Given the description of an element on the screen output the (x, y) to click on. 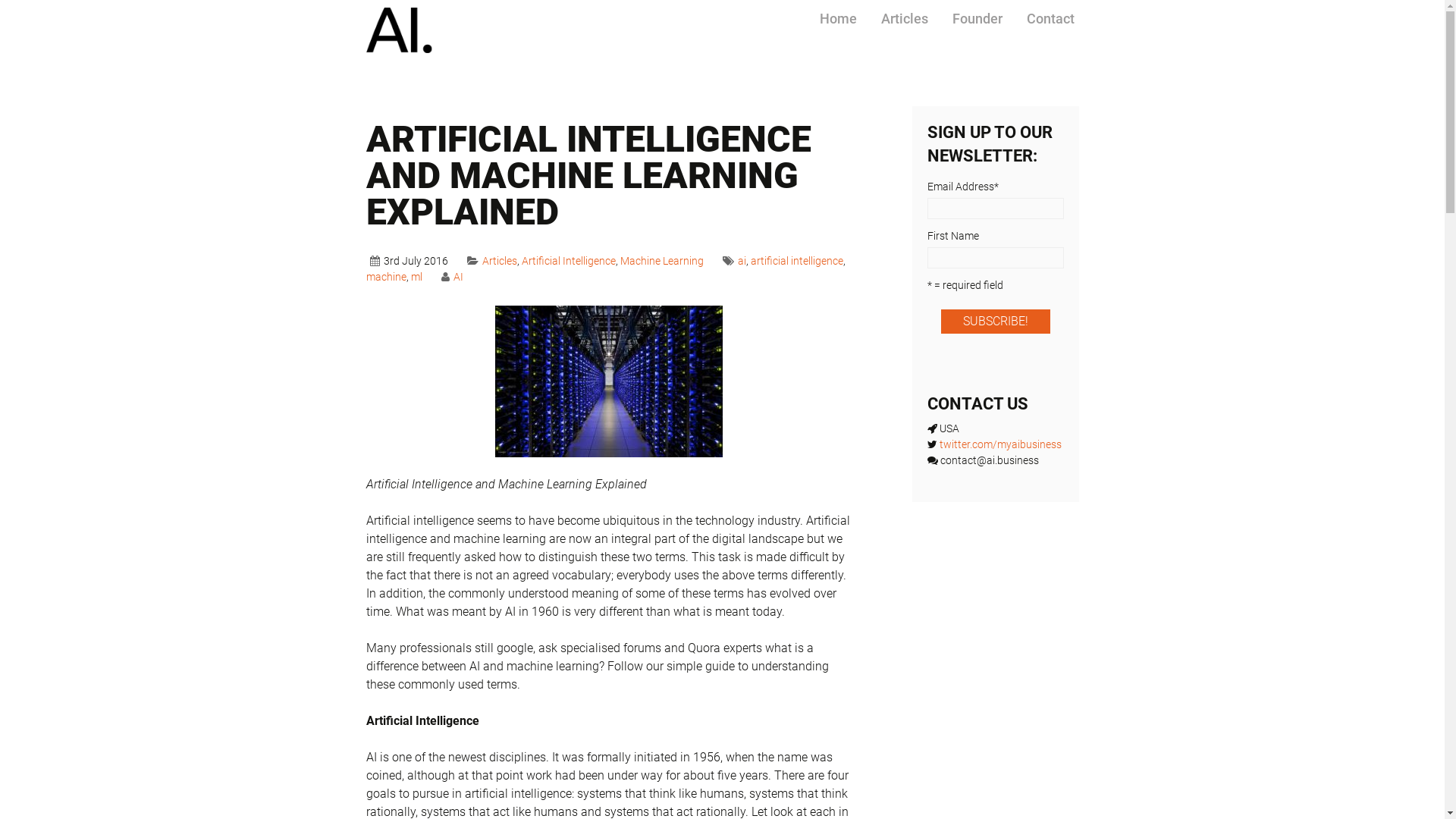
art Element type: text (833, 522)
Skip to content Element type: text (847, 7)
robots Element type: text (675, 580)
machine Element type: text (385, 276)
Contact Element type: text (1050, 18)
site Element type: text (777, 580)
machine Element type: text (993, 551)
cognitive computing Element type: text (892, 537)
ml Element type: text (953, 565)
Articles Element type: text (904, 18)
Site-Layout Modeling Element type: text (846, 580)
education Element type: text (805, 551)
smart building Element type: text (943, 580)
war Element type: text (1044, 580)
ml Element type: text (416, 276)
ai Element type: text (710, 522)
livestock Element type: text (902, 551)
animal growth Element type: text (755, 522)
crm Element type: text (637, 551)
agriculture Element type: text (628, 522)
Founder Element type: text (977, 18)
augmented reality Element type: text (841, 529)
twitter.com/myaibusiness Element type: text (999, 444)
agritech Element type: text (680, 522)
construction Element type: text (983, 537)
military Element type: text (820, 565)
Articles Element type: text (499, 260)
artificial Element type: text (888, 522)
defense Element type: text (717, 551)
security Element type: text (745, 580)
weeds identification Element type: text (896, 594)
LRASM Element type: text (948, 551)
missile technology Element type: text (893, 565)
drones Element type: text (758, 551)
big data Element type: text (657, 537)
Home Element type: text (837, 18)
predictive analytics Element type: text (1012, 565)
ai Element type: text (741, 260)
AI Element type: text (458, 276)
Artificial Intelligence Element type: text (568, 260)
Subscribe! Element type: text (721, 802)
work Element type: text (965, 594)
machine learning Element type: text (832, 558)
twitter.com/myaibusiness Element type: text (458, 580)
bim Element type: text (692, 537)
machine lerarning Element type: text (694, 565)
start ups Element type: text (1008, 580)
Machine Learning Element type: text (661, 260)
Subscribe! Element type: text (994, 321)
farming Element type: text (855, 551)
artificial intelligence Element type: text (966, 522)
sales Element type: text (708, 580)
civil engineering Element type: text (793, 537)
marketing Element type: text (771, 565)
price Element type: text (613, 580)
army Element type: text (811, 522)
retail Element type: text (642, 580)
artificial intelligence Element type: text (796, 260)
construction sites Element type: text (842, 544)
building Element type: text (726, 537)
defence Element type: text (671, 551)
artif Element type: text (854, 522)
